Given the description of an element on the screen output the (x, y) to click on. 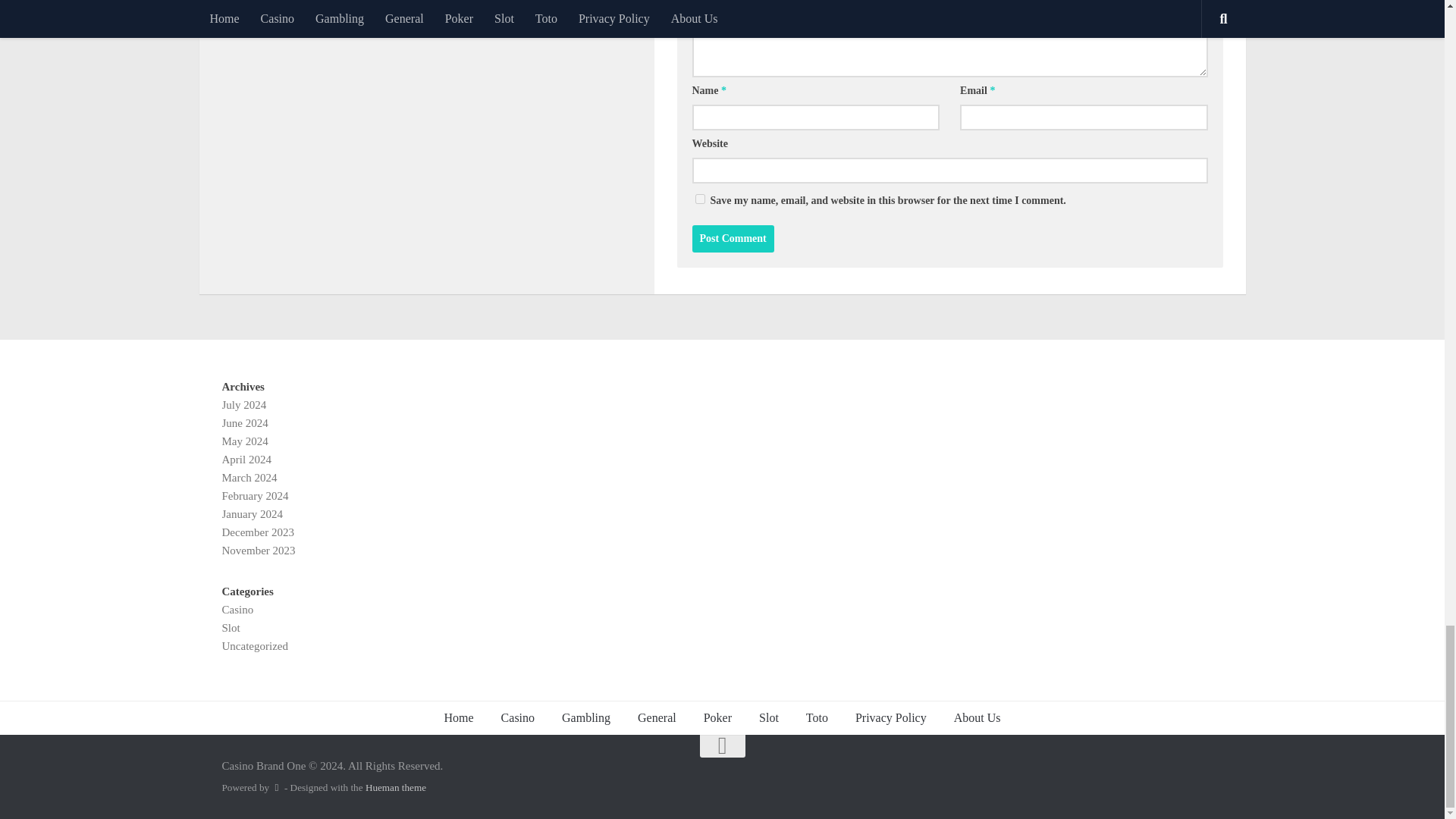
Post Comment (732, 238)
yes (699, 198)
